Given the description of an element on the screen output the (x, y) to click on. 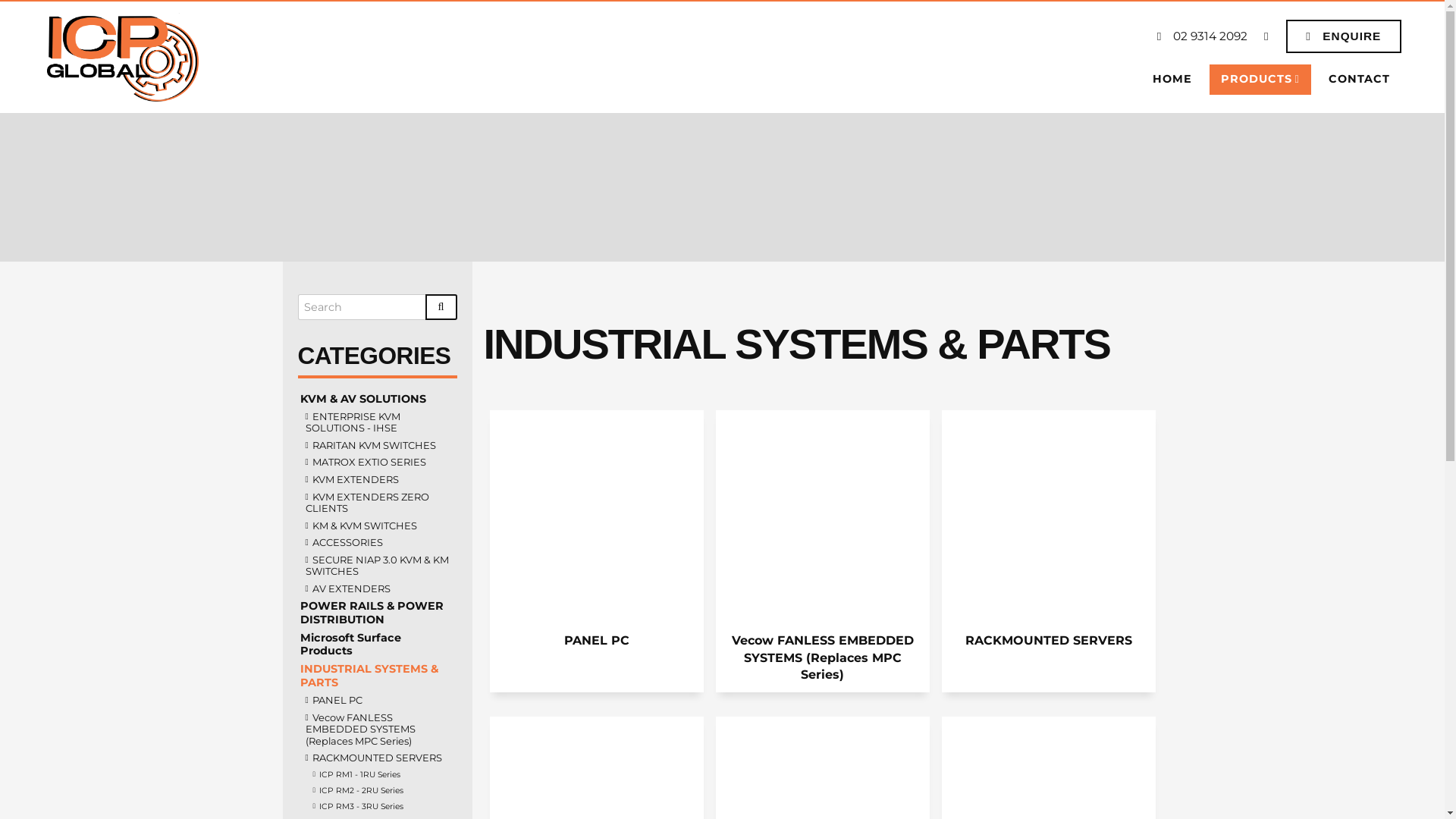
PANEL PC Element type: text (376, 700)
KM & KVM SWITCHES Element type: text (376, 525)
Microsoft Surface Products Element type: text (376, 644)
AV EXTENDERS Element type: text (376, 588)
CONTACT Element type: text (1359, 79)
ENQUIRE Element type: text (1343, 36)
PRODUCTS Element type: text (1260, 79)
HOME Element type: text (1172, 79)
ENTERPRISE KVM SOLUTIONS - IHSE Element type: text (376, 422)
KVM & AV SOLUTIONS Element type: text (376, 398)
ICP RM3 - 3RU Series Element type: text (376, 806)
SECURE NIAP 3.0 KVM & KM SWITCHES Element type: text (376, 566)
ACCESSORIES Element type: text (376, 542)
ICP RM2 - 2RU Series Element type: text (376, 790)
ICP RM1 - 1RU Series Element type: text (376, 774)
Vecow FANLESS EMBEDDED SYSTEMS (Replaces MPC Series) Element type: text (376, 729)
PANEL PC Element type: text (596, 551)
RACKMOUNTED SERVERS Element type: text (1048, 551)
RARITAN KVM SWITCHES Element type: text (376, 445)
INDUSTRIAL SYSTEMS & PARTS Element type: text (376, 675)
POWER RAILS & POWER DISTRIBUTION Element type: text (376, 612)
KVM EXTENDERS ZERO CLIENTS Element type: text (376, 503)
KVM EXTENDERS Element type: text (376, 479)
Vecow FANLESS EMBEDDED SYSTEMS (Replaces MPC Series) Element type: text (822, 551)
RACKMOUNTED SERVERS Element type: text (376, 757)
MATROX EXTIO SERIES Element type: text (376, 462)
